Given the description of an element on the screen output the (x, y) to click on. 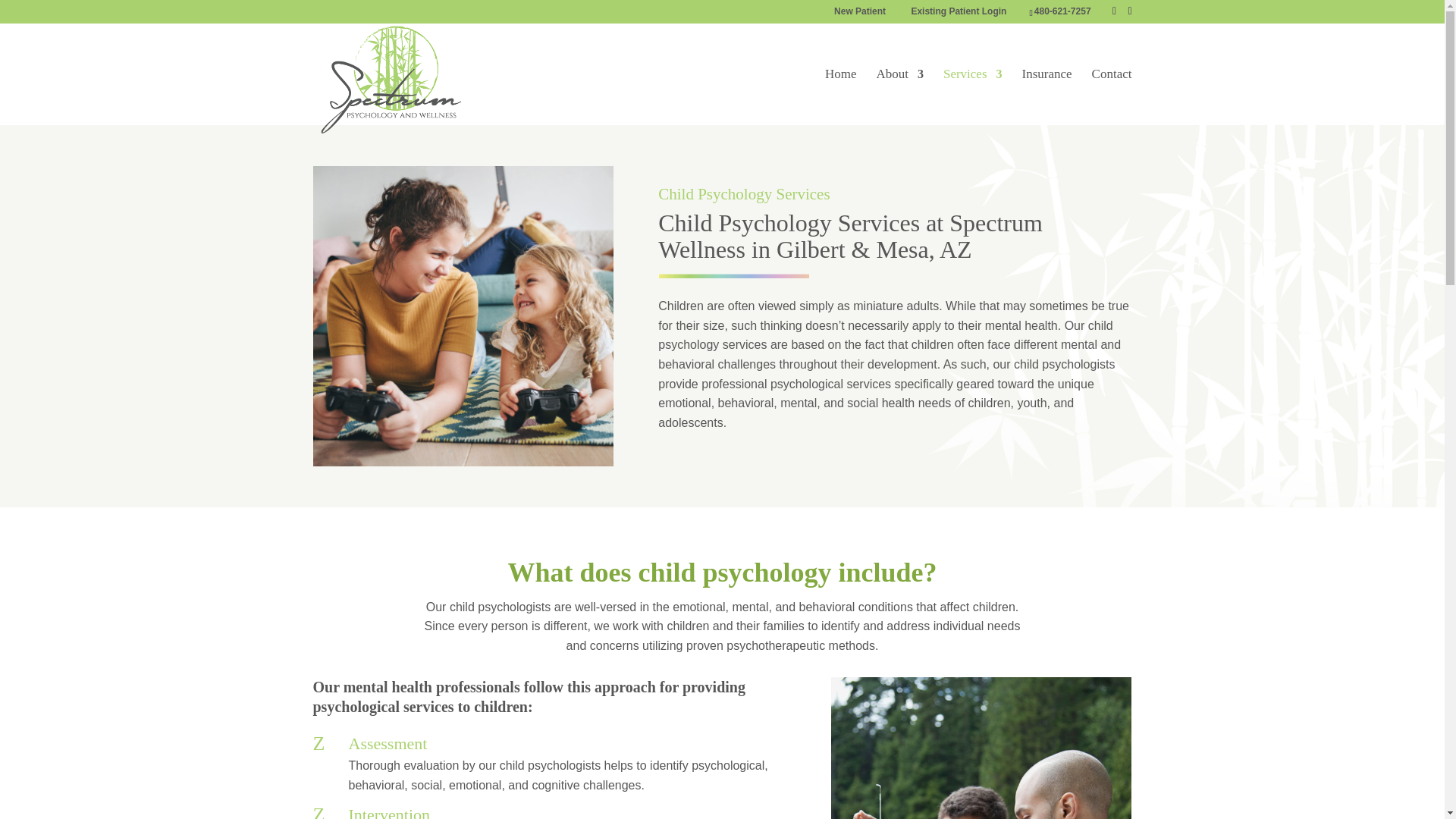
New Patient (859, 14)
Spectrum-Color-Gradient-Small (733, 275)
Spectrum-Wellness-Child-Psychology3a (981, 748)
Spectrum-Wellness-Child-Psychology (462, 316)
480-621-7257 (1061, 10)
Services (973, 96)
Existing Patient Login (958, 14)
Insurance (1046, 96)
